Given the description of an element on the screen output the (x, y) to click on. 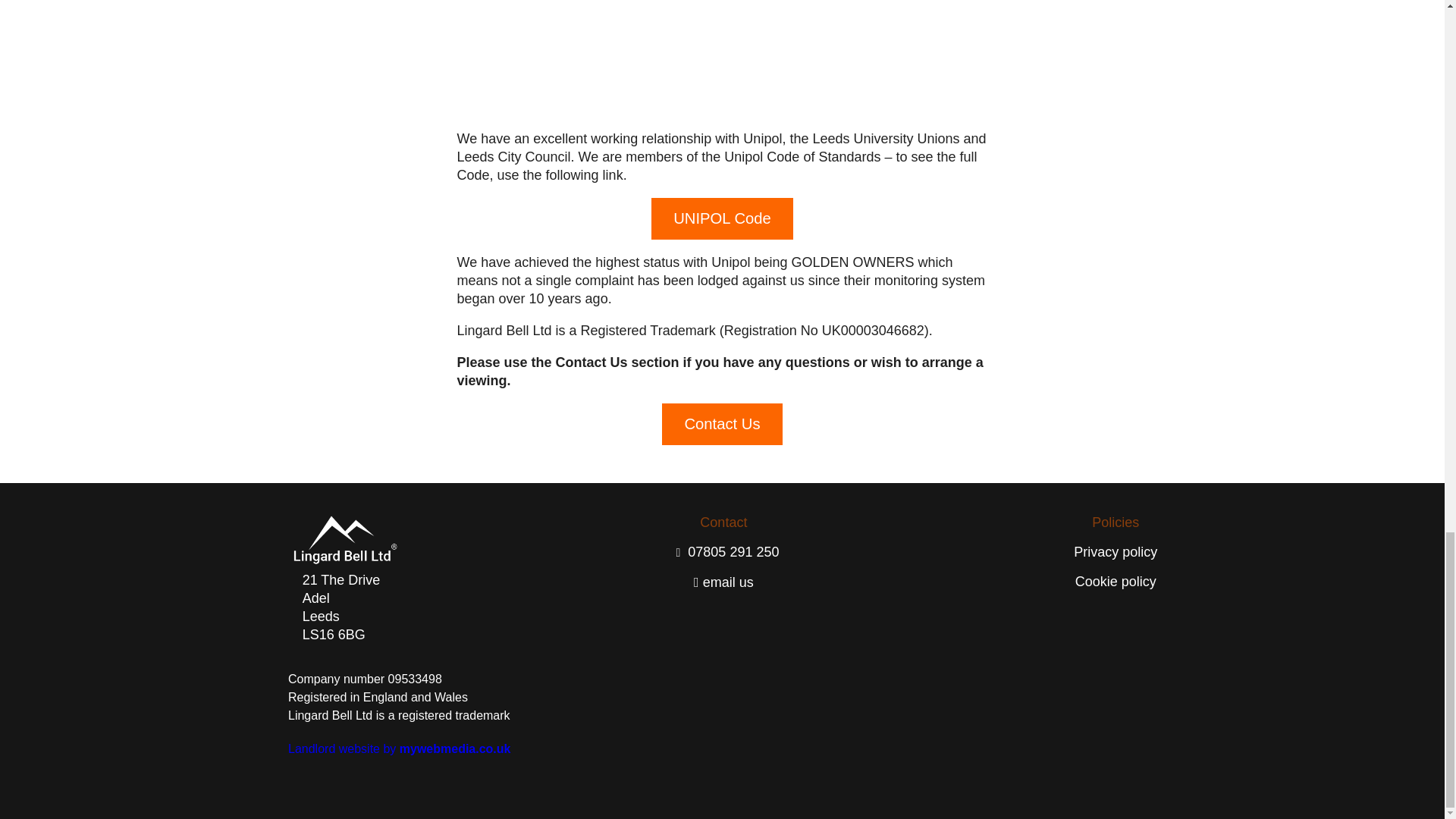
Contact Us (721, 424)
email us (724, 582)
Landlord website by mywebmedia.co.uk (399, 749)
UNIPOL Code (721, 218)
Privacy policy (1115, 551)
Cookie policy (1115, 581)
